Given the description of an element on the screen output the (x, y) to click on. 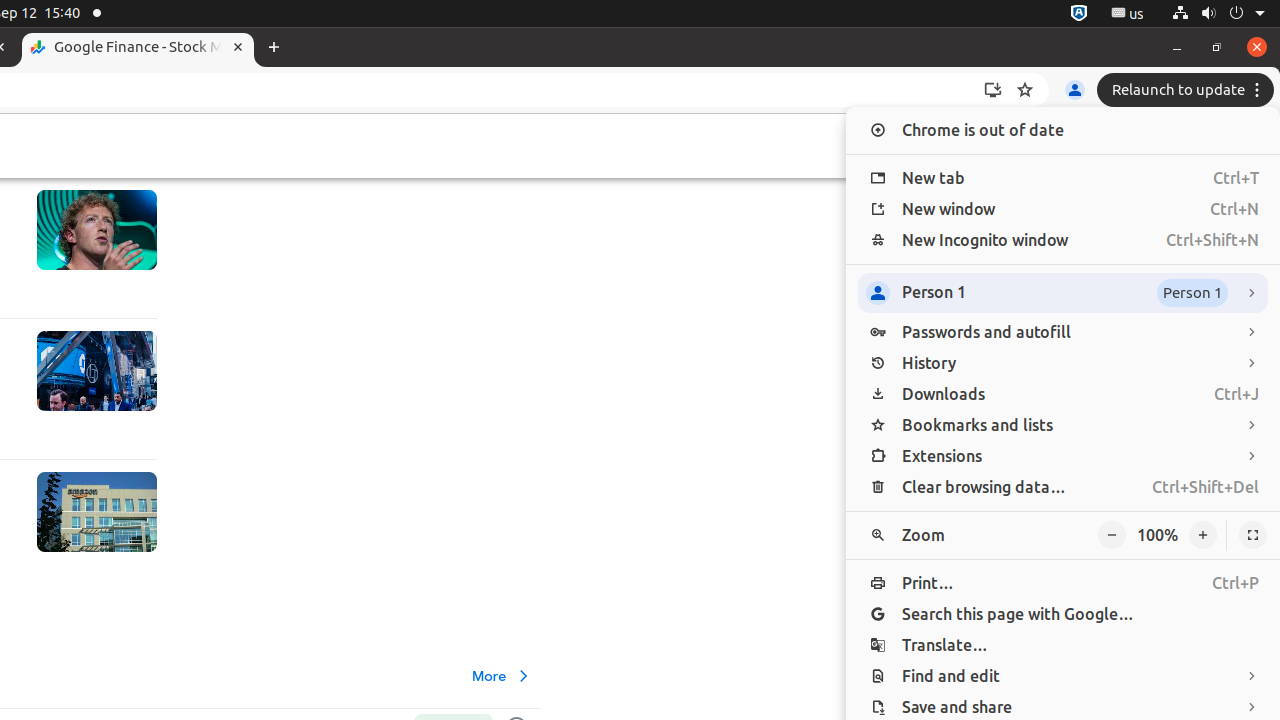
Print… Ctrl+P Element type: menu-item (1063, 583)
Passwords and autofill Element type: menu-item (1063, 332)
:1.21/StatusNotifierItem Element type: menu (1127, 13)
Translate… Element type: menu-item (1063, 645)
Person 1 Element type: menu-item (1063, 293)
